Given the description of an element on the screen output the (x, y) to click on. 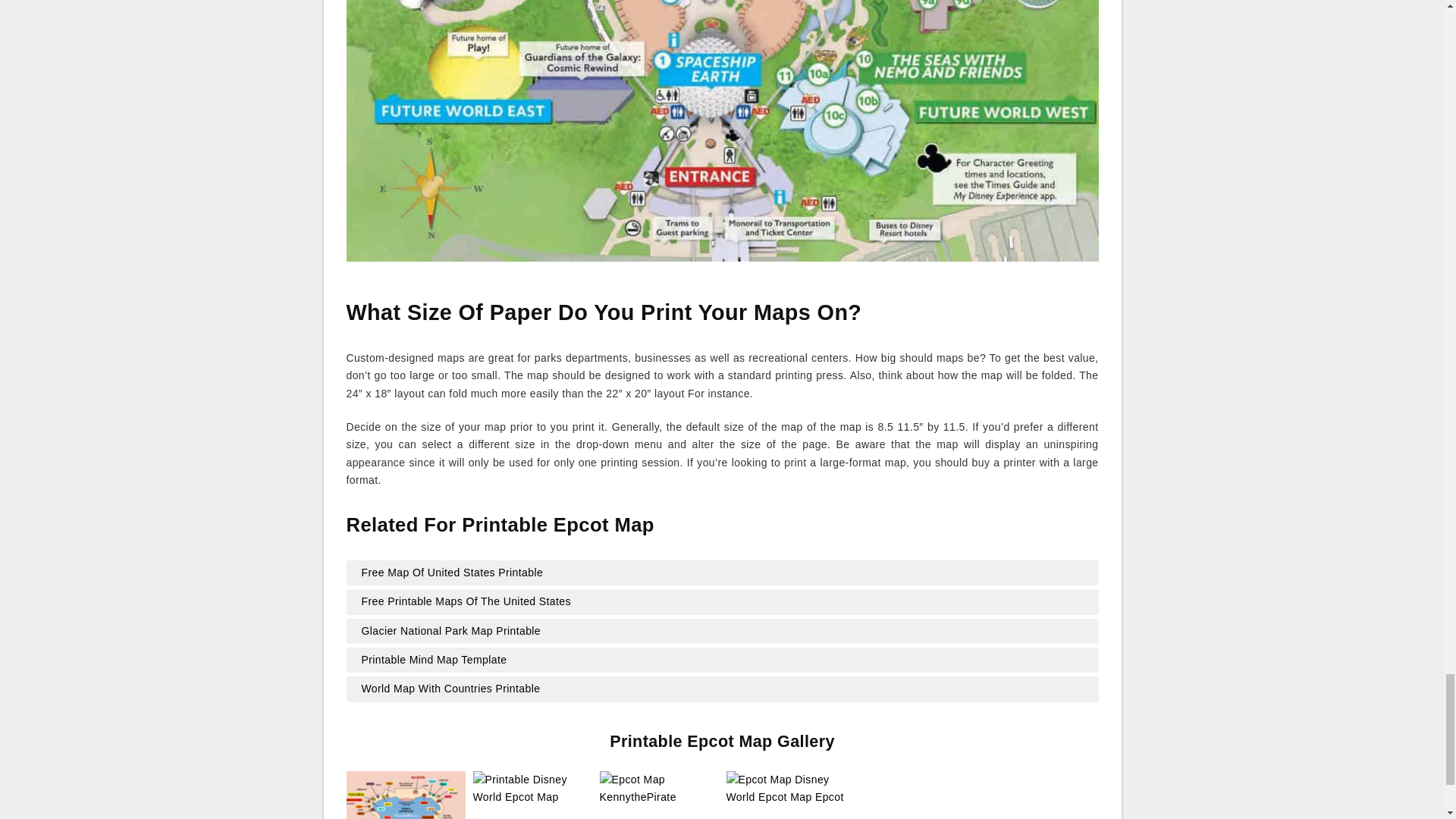
Free Printable Maps Of The United States (721, 601)
Printable Mind Map Template (721, 660)
Printable Disney World Epcot Map (532, 787)
Glacier National Park Map Printable (721, 630)
World Map With Countries Printable (721, 688)
Epcot Park Map Printable Printable Maps (405, 795)
Free Map Of United States Printable (721, 572)
